Given the description of an element on the screen output the (x, y) to click on. 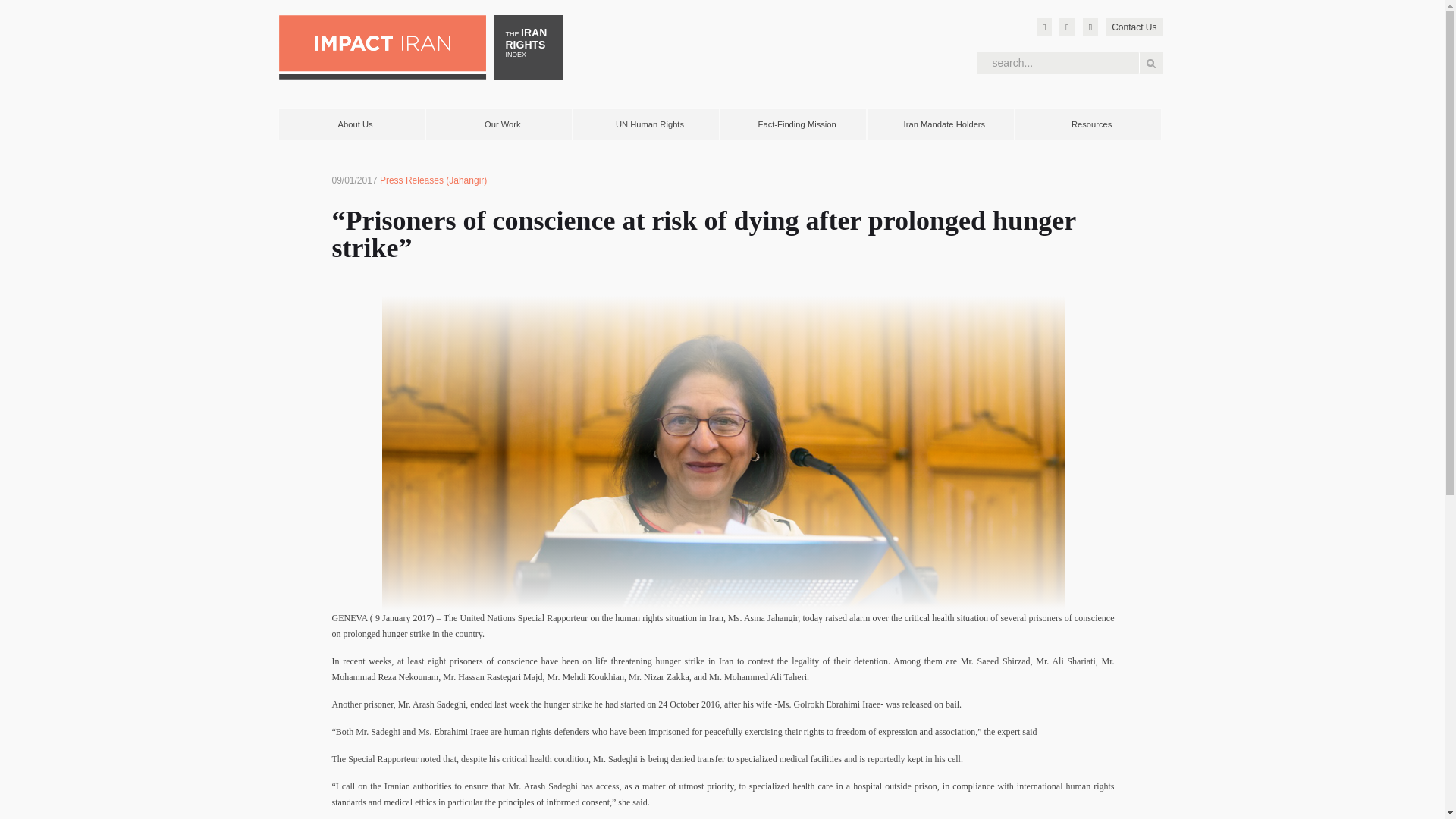
Reset (3, 2)
THE IRAN RIGHTS INDEX (528, 47)
instagram (1090, 27)
UN Human Rights (649, 123)
facebook (1066, 27)
About Us (355, 123)
Our Work (502, 123)
twitter (1043, 27)
Iran Mandate Holders (943, 123)
Fact-Finding Mission (796, 123)
Contact Us (1133, 27)
